Given the description of an element on the screen output the (x, y) to click on. 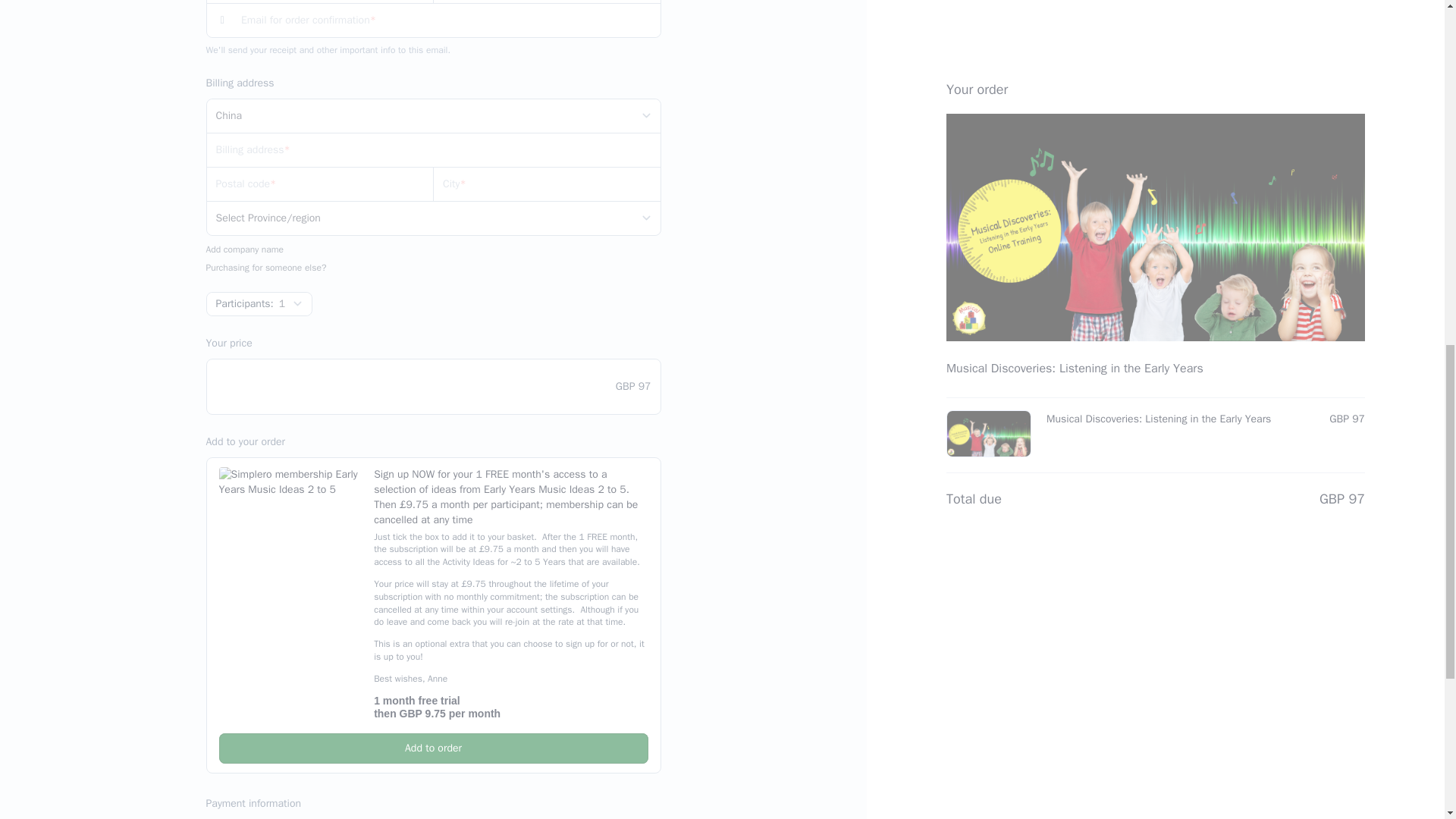
Purchasing for someone else? (266, 267)
Add to order (432, 748)
Add company name (244, 249)
